Given the description of an element on the screen output the (x, y) to click on. 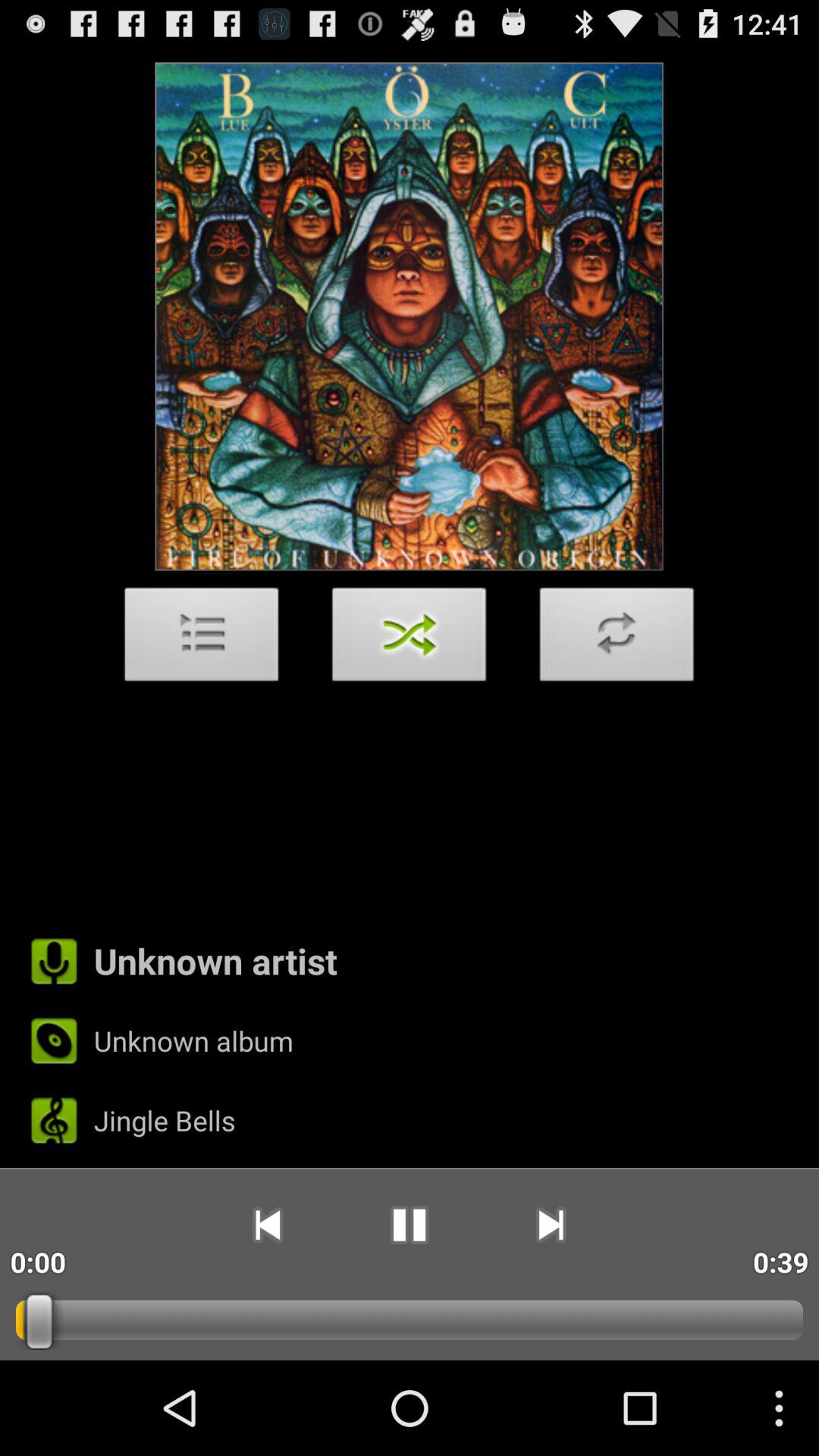
select the app above unknown artist app (409, 638)
